Given the description of an element on the screen output the (x, y) to click on. 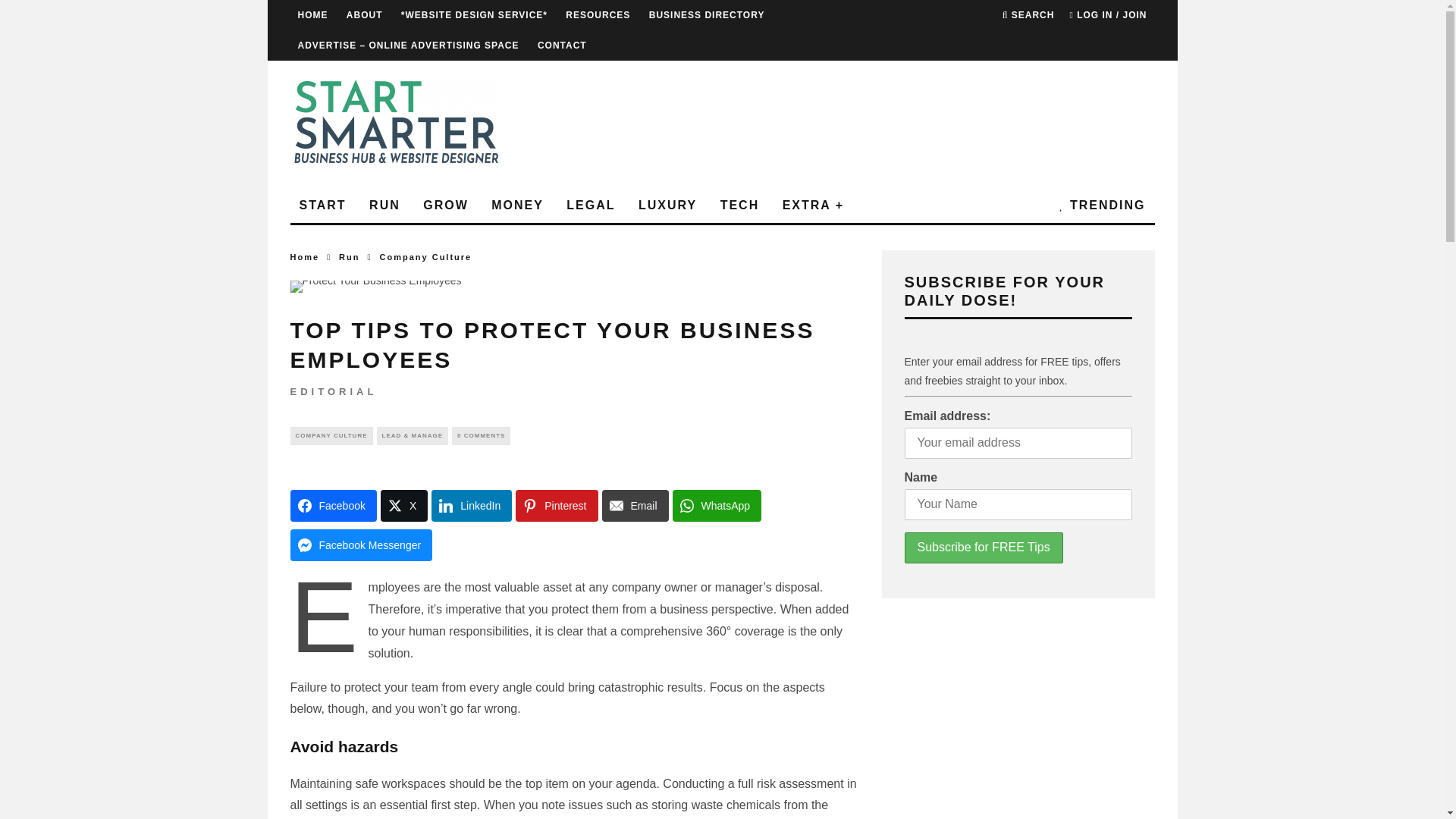
Share on Facebook (332, 505)
View all posts in Company Culture (425, 256)
View all posts in Company Culture (330, 435)
SEARCH (1028, 15)
RESOURCES (598, 15)
HOME (312, 15)
Share on X (404, 505)
BUSINESS DIRECTORY (707, 15)
Search (1028, 15)
Subscribe  for FREE Tips (983, 547)
